Given the description of an element on the screen output the (x, y) to click on. 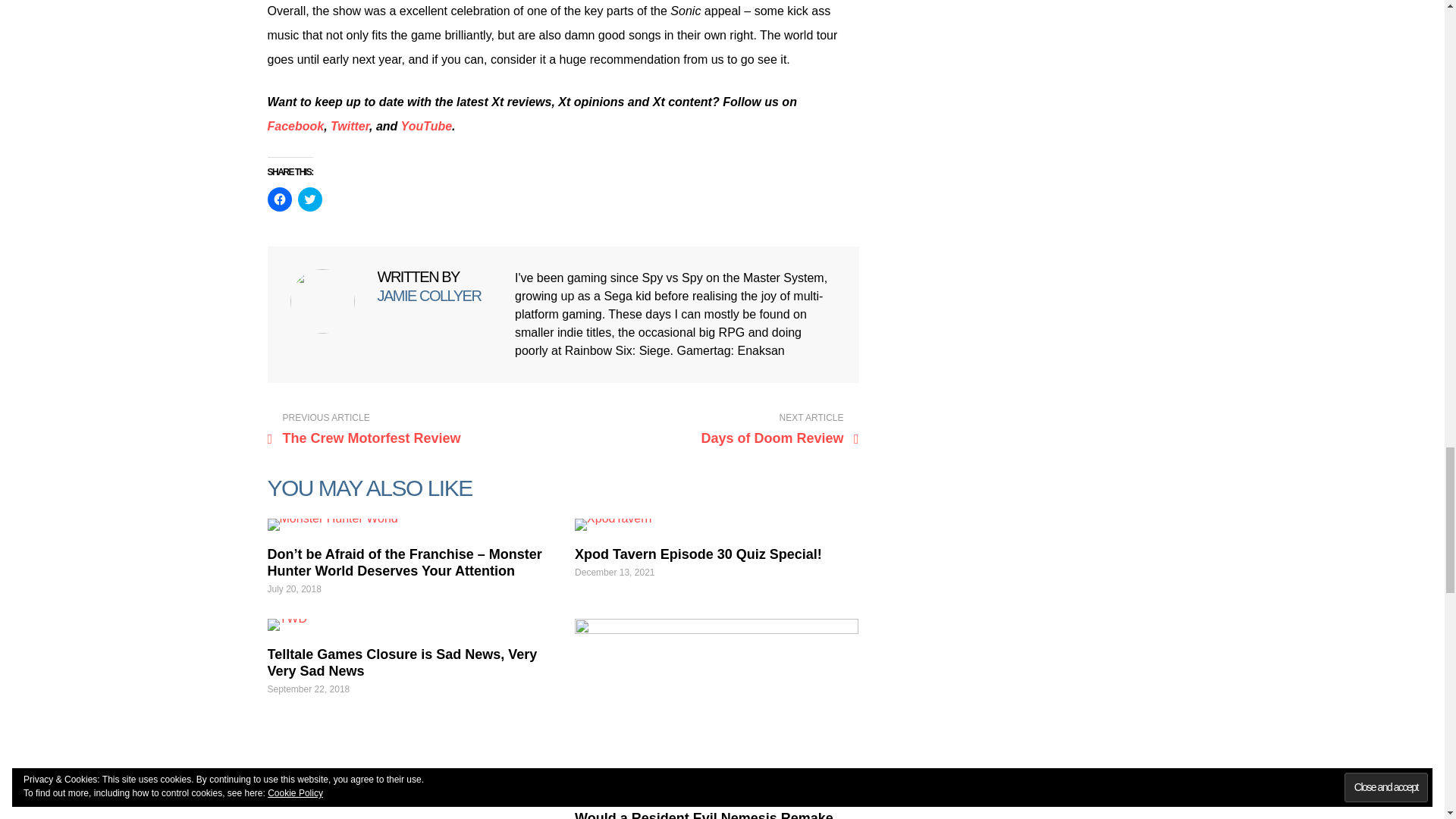
Telltale Games Closure is Sad News, Very Very Sad News (408, 624)
The Crew Motorfest Review (411, 429)
Click to share on Facebook (278, 199)
Would a Resident Evil Nemesis Remake Work? (717, 706)
Xpod Tavern Episode 30 Quiz Special! (717, 524)
Would a Resident Evil Nemesis Remake Work? (703, 814)
Telltale Games Closure is Sad News, Very Very Sad News (401, 662)
Days of Doom Review (714, 429)
Click to share on Twitter (309, 199)
Xpod Tavern Episode 30 Quiz Special! (698, 554)
